Given the description of an element on the screen output the (x, y) to click on. 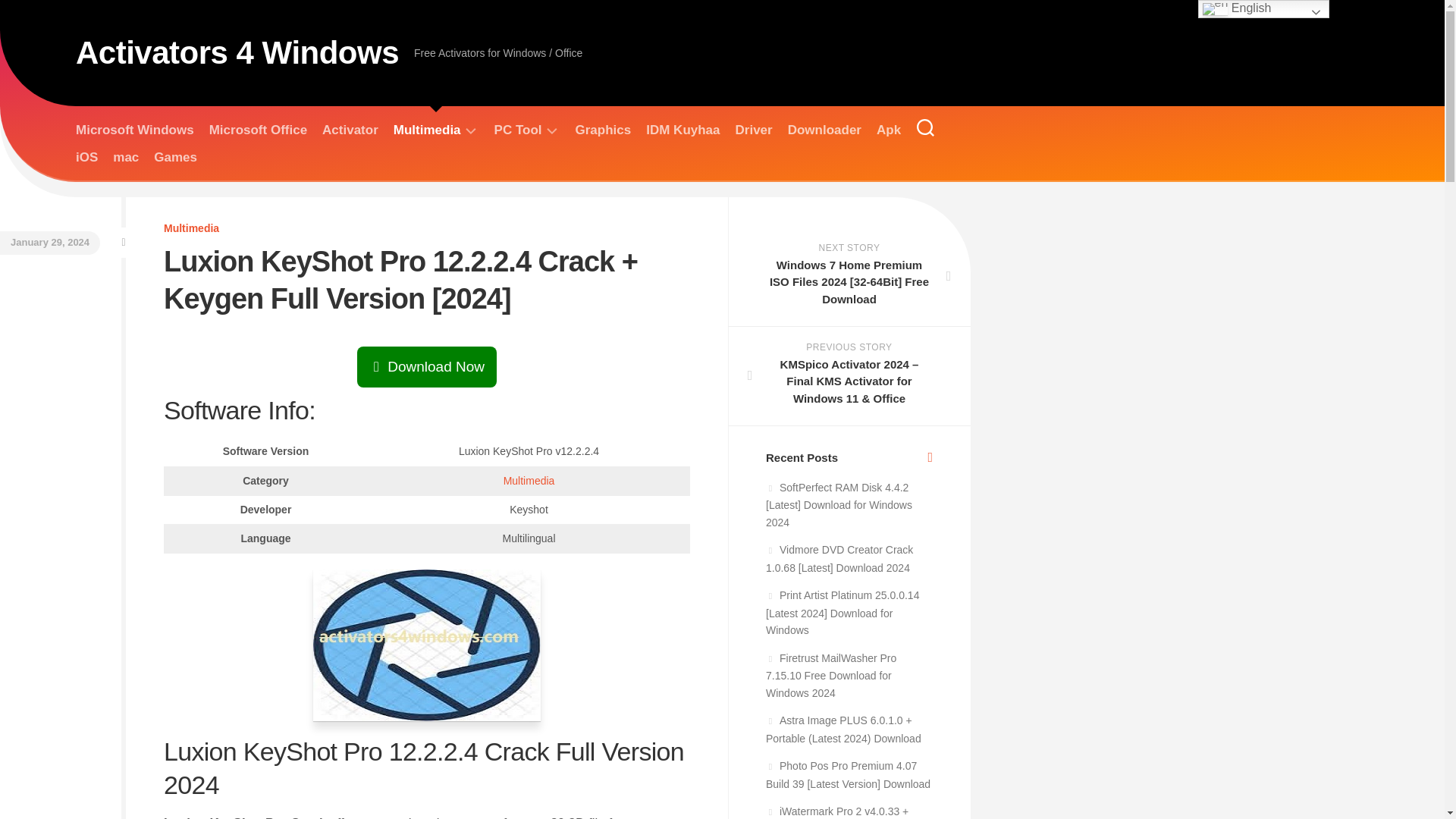
Download Now (426, 367)
IDM Kuyhaa (682, 130)
Download Now (426, 366)
Driver (754, 130)
Games (175, 157)
Multimedia (528, 480)
mac (125, 157)
Microsoft Windows (134, 130)
Microsoft Office (258, 130)
iOS (86, 157)
